Given the description of an element on the screen output the (x, y) to click on. 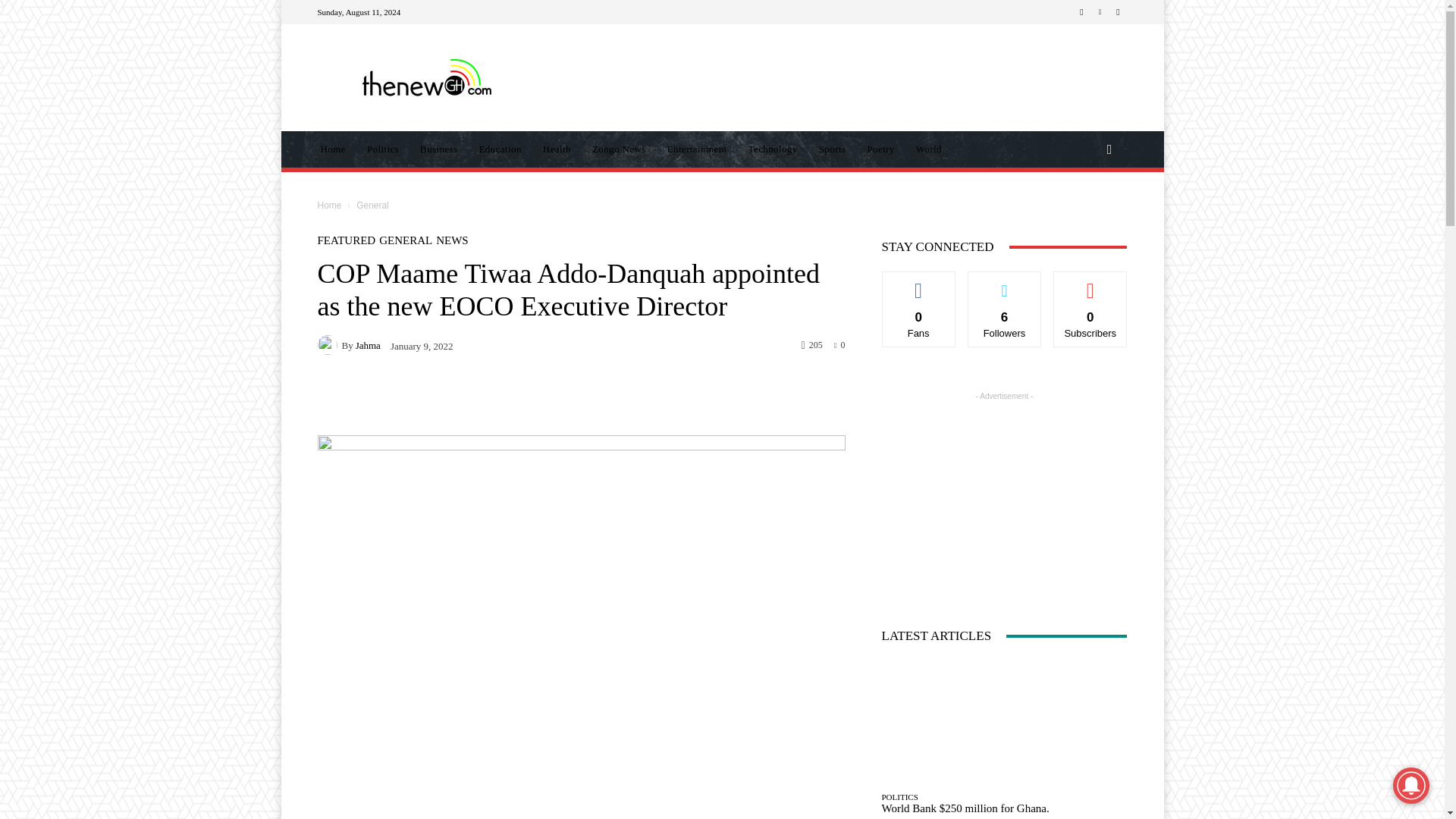
Politics (382, 149)
View all posts in General (372, 204)
Advertisement (849, 77)
Health (556, 149)
Zongo News (618, 149)
Education (500, 149)
Business (438, 149)
Home (331, 149)
